Given the description of an element on the screen output the (x, y) to click on. 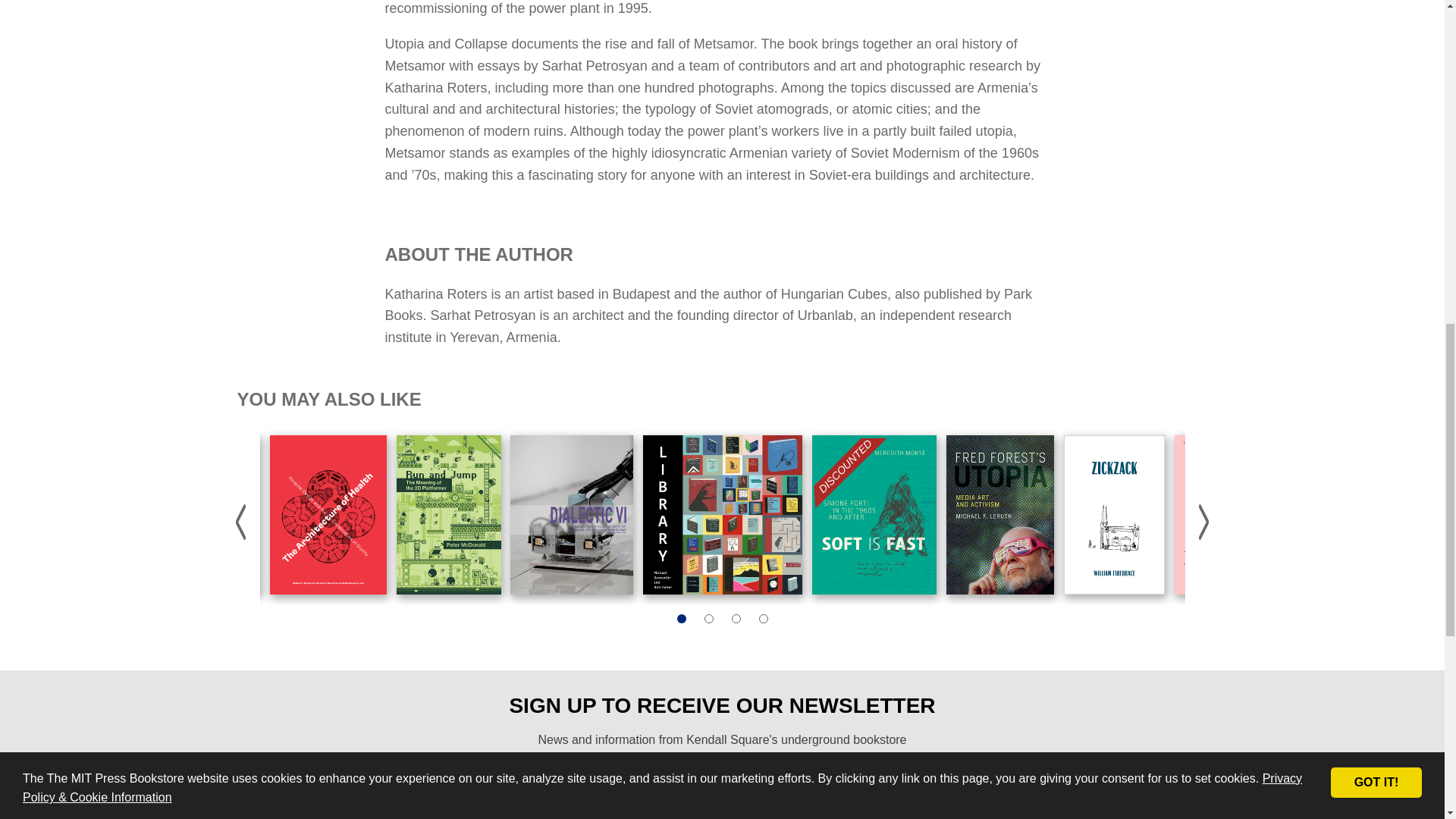
GOT IT! (1376, 55)
